Given the description of an element on the screen output the (x, y) to click on. 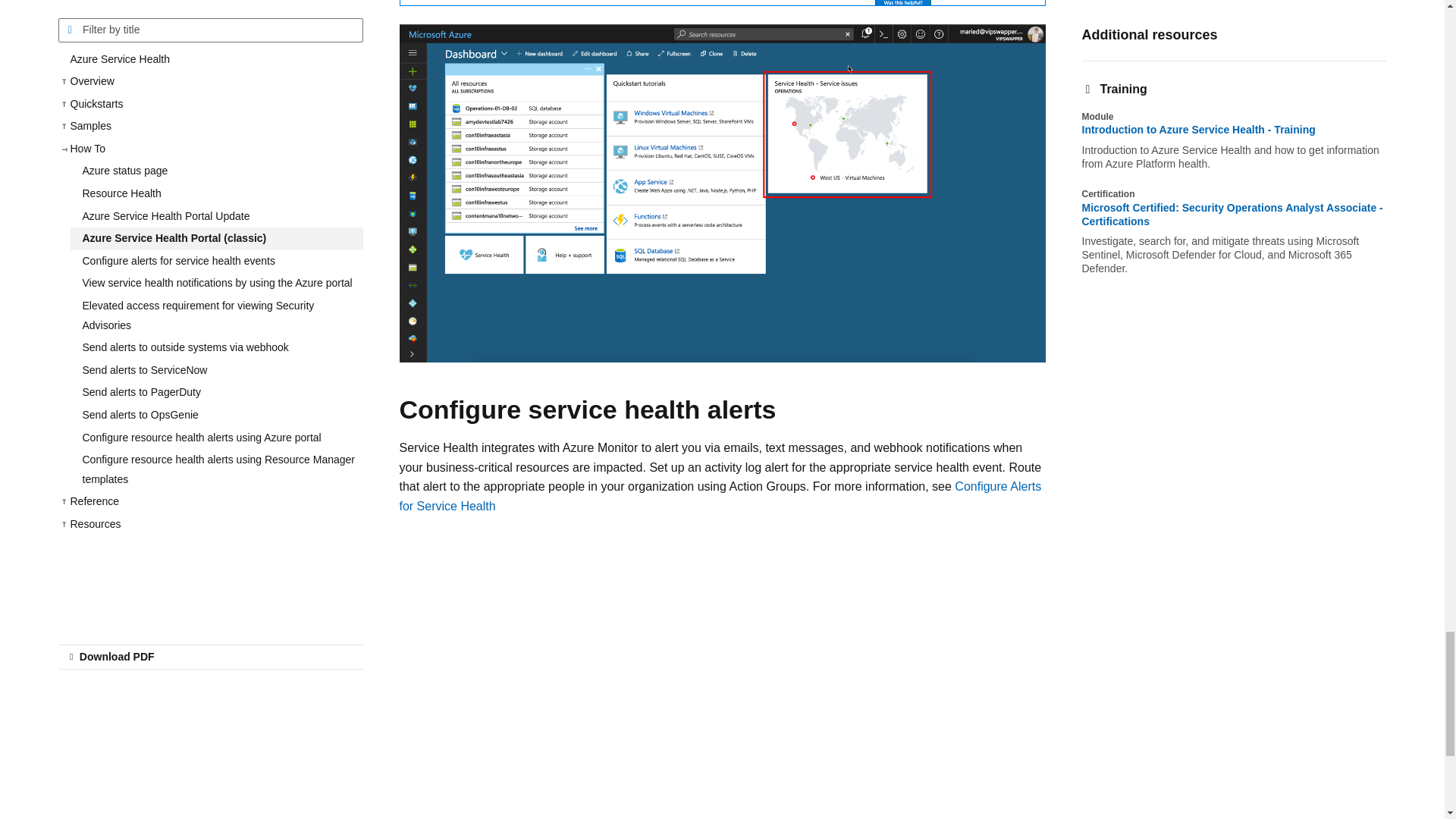
Video Player (640, 651)
